Given the description of an element on the screen output the (x, y) to click on. 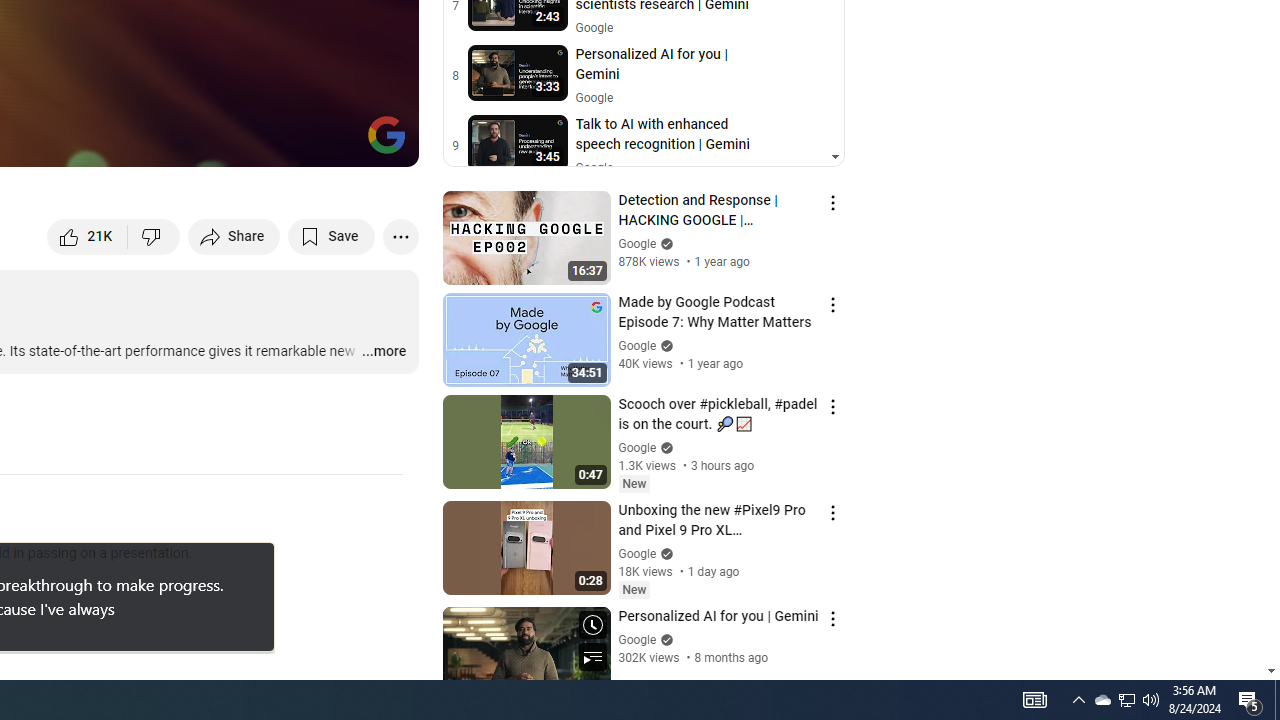
Subtitles/closed captions unavailable (190, 142)
...more (382, 352)
Theater mode (t) (333, 142)
More actions (399, 236)
Miniplayer (i) (286, 142)
Channel watermark (386, 134)
Full screen (f) (382, 142)
New (634, 590)
like this video along with 21,118 other people (88, 236)
